Given the description of an element on the screen output the (x, y) to click on. 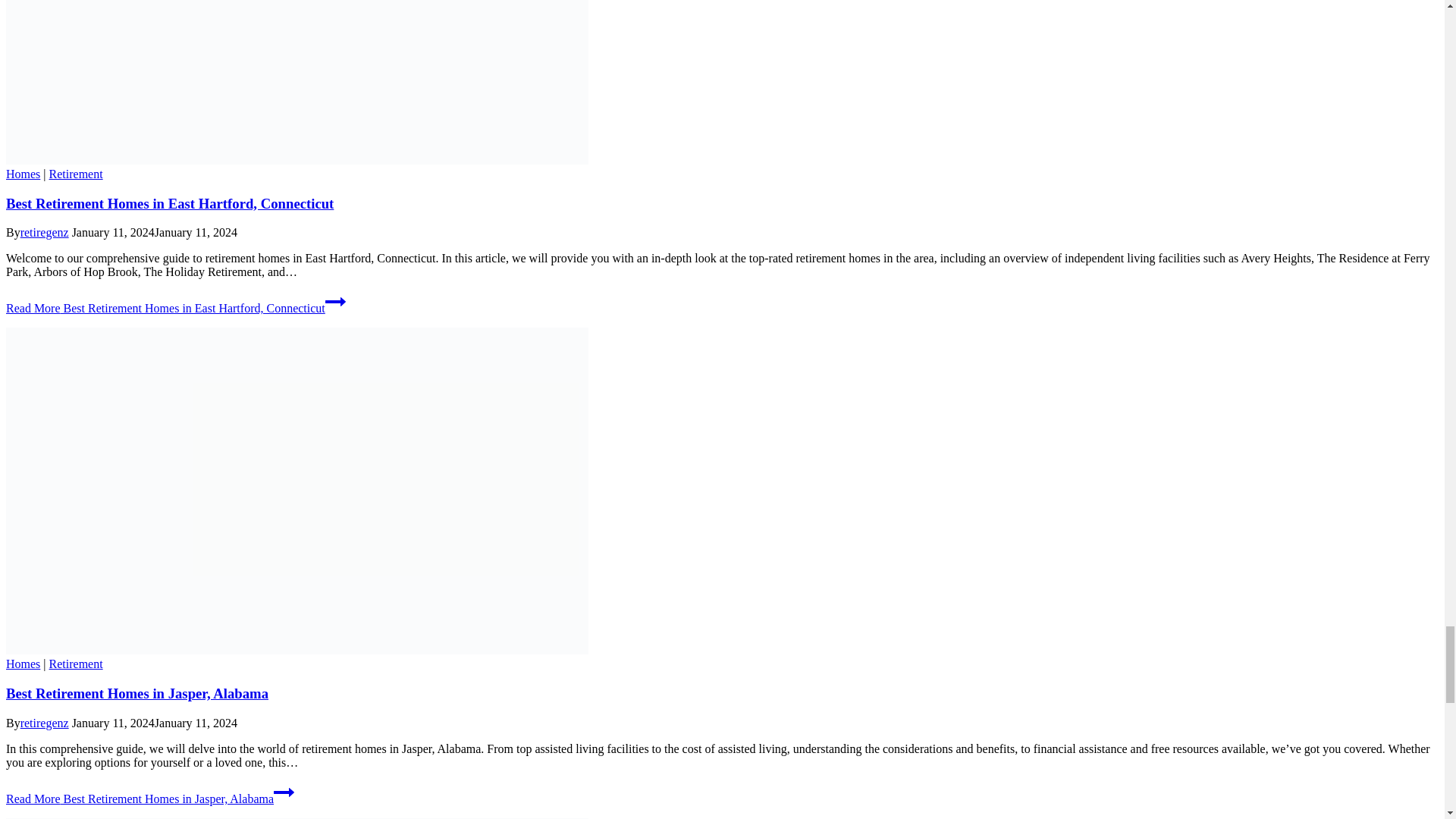
retiregenz (44, 722)
Homes (22, 663)
Continue (283, 792)
Continue (335, 301)
Best Retirement Homes in East Hartford, Connecticut (169, 203)
Homes (22, 173)
Retirement (76, 173)
retiregenz (44, 232)
Retirement (76, 663)
Best Retirement Homes in Jasper, Alabama (136, 693)
Read More Best Retirement Homes in Jasper, AlabamaContinue (149, 798)
